Given the description of an element on the screen output the (x, y) to click on. 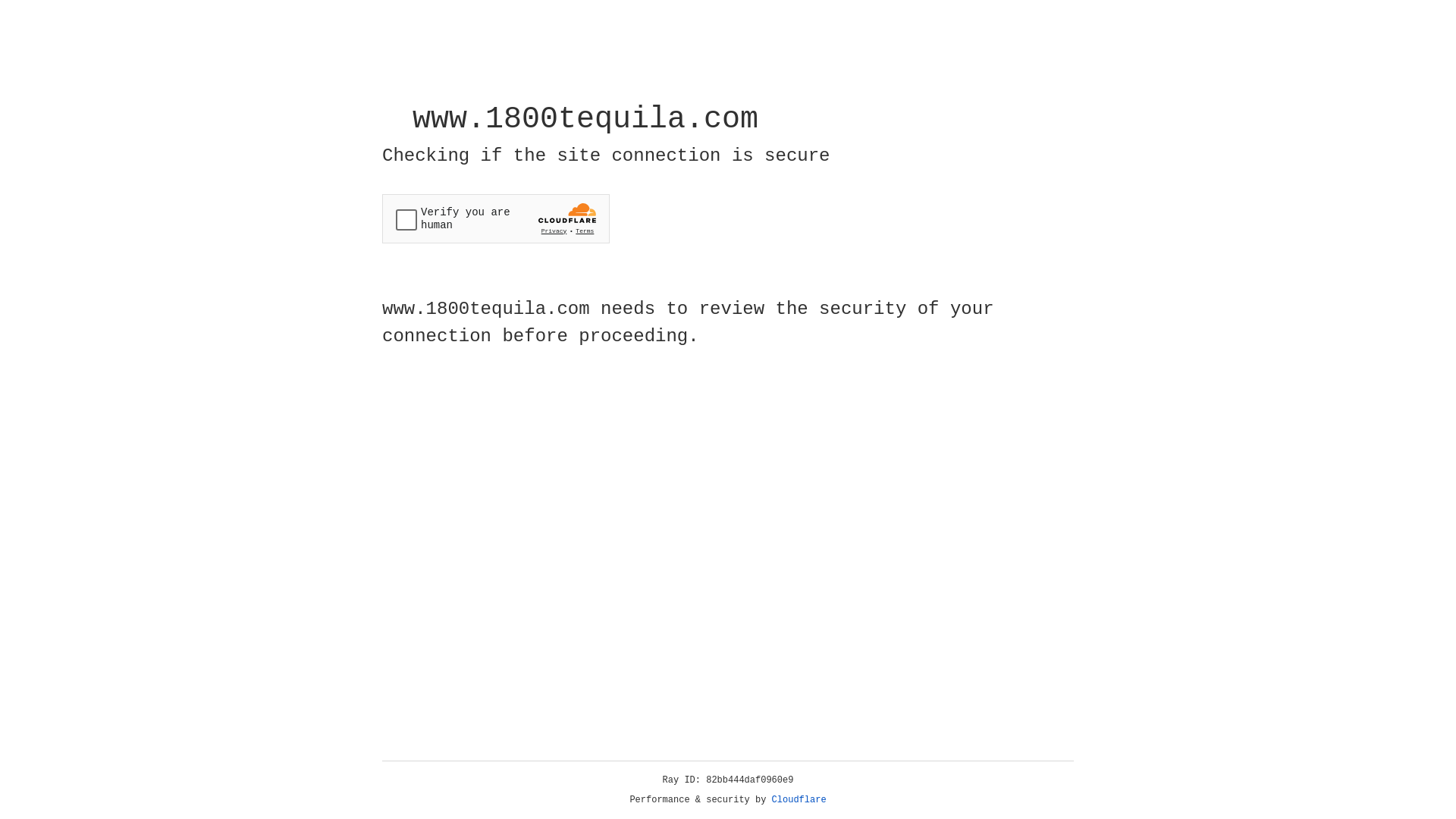
Widget containing a Cloudflare security challenge Element type: hover (495, 218)
Cloudflare Element type: text (798, 799)
